Given the description of an element on the screen output the (x, y) to click on. 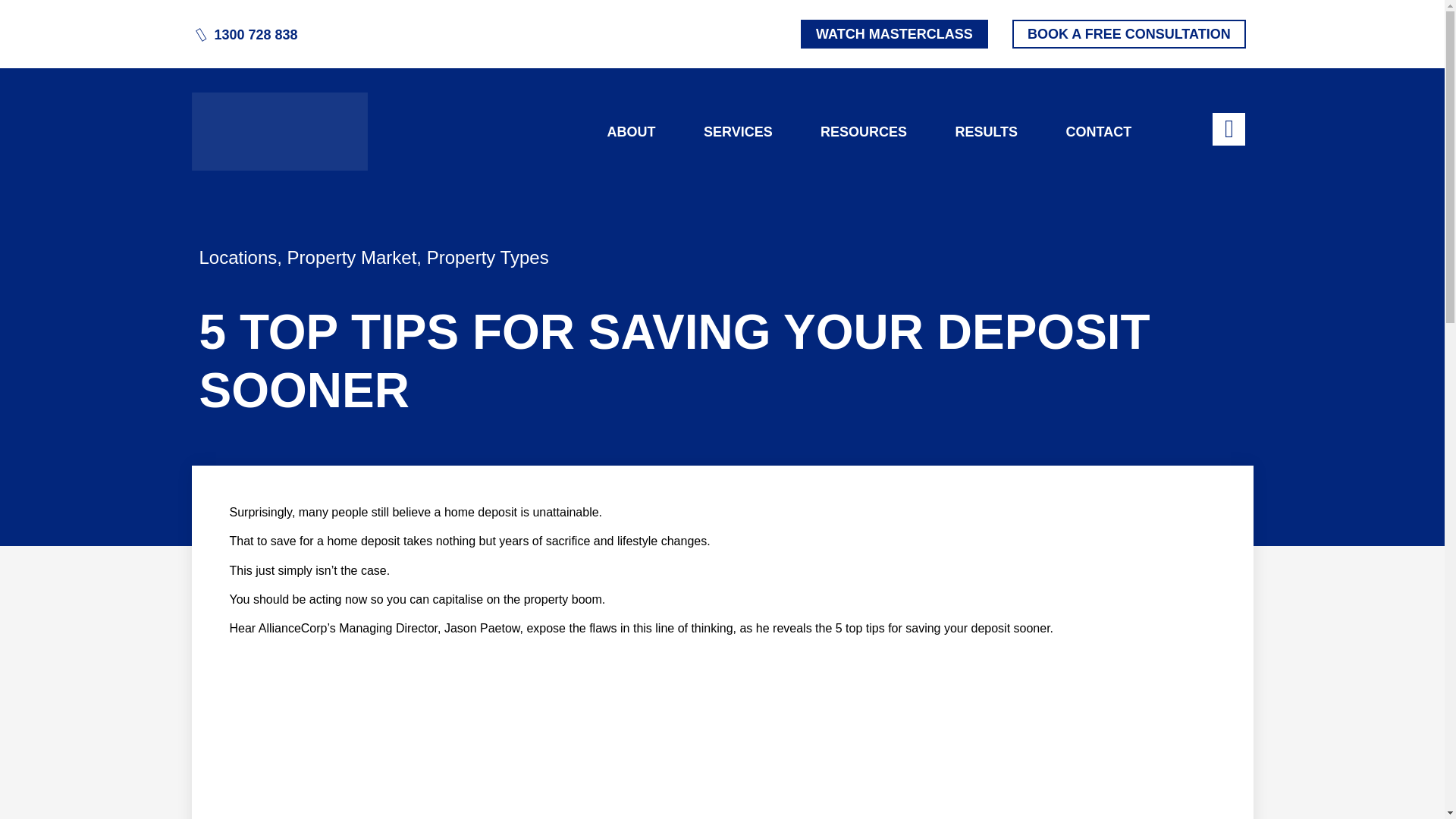
BOOK A FREE CONSULTATION (1128, 33)
RESOURCES (863, 131)
ABOUT (631, 131)
WATCH MASTERCLASS (894, 33)
CONTACT (1098, 131)
RESULTS (985, 131)
SERVICES (737, 131)
1300 728 838 (255, 34)
